Given the description of an element on the screen output the (x, y) to click on. 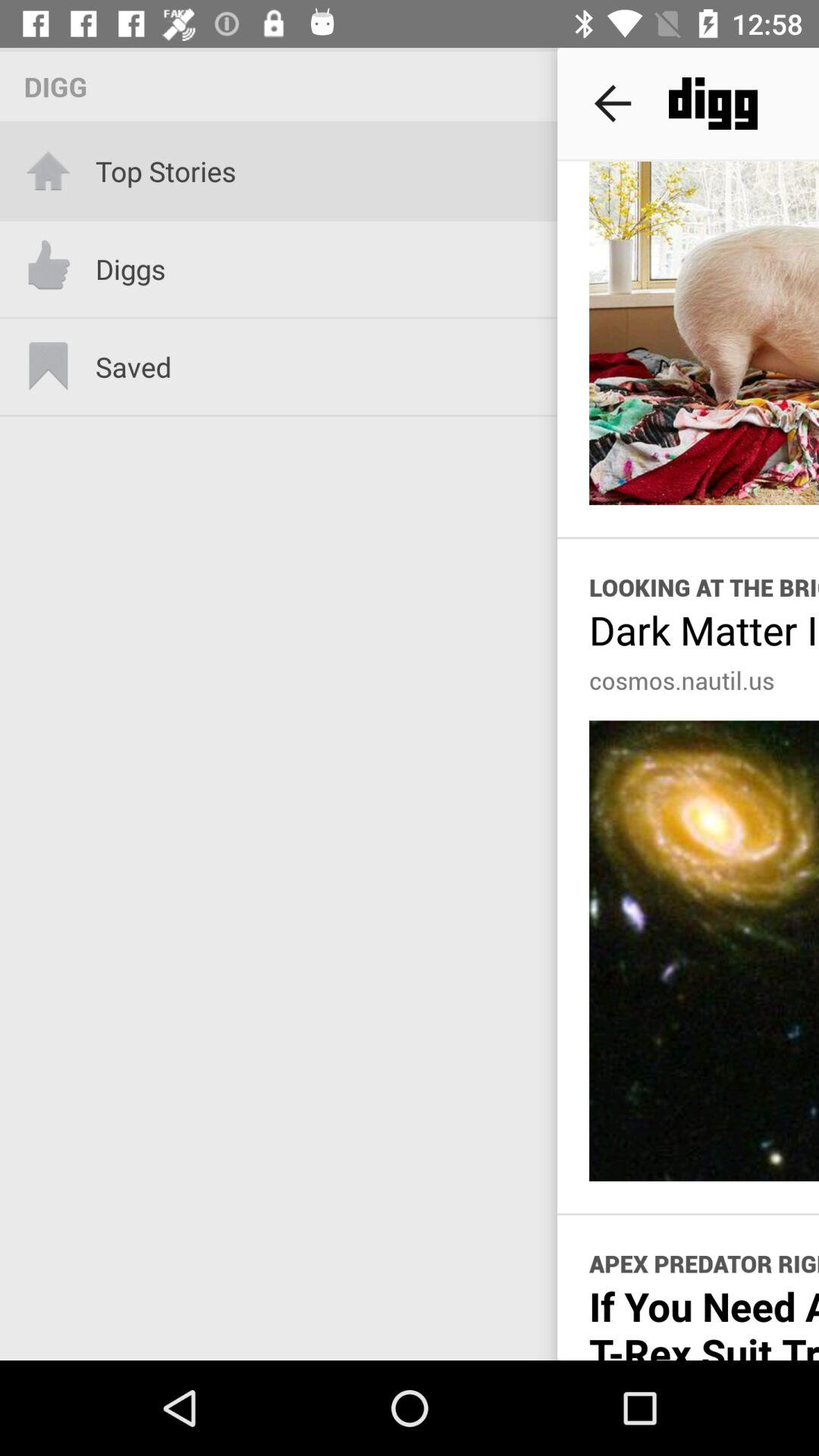
flip to apex predator right icon (704, 1263)
